Given the description of an element on the screen output the (x, y) to click on. 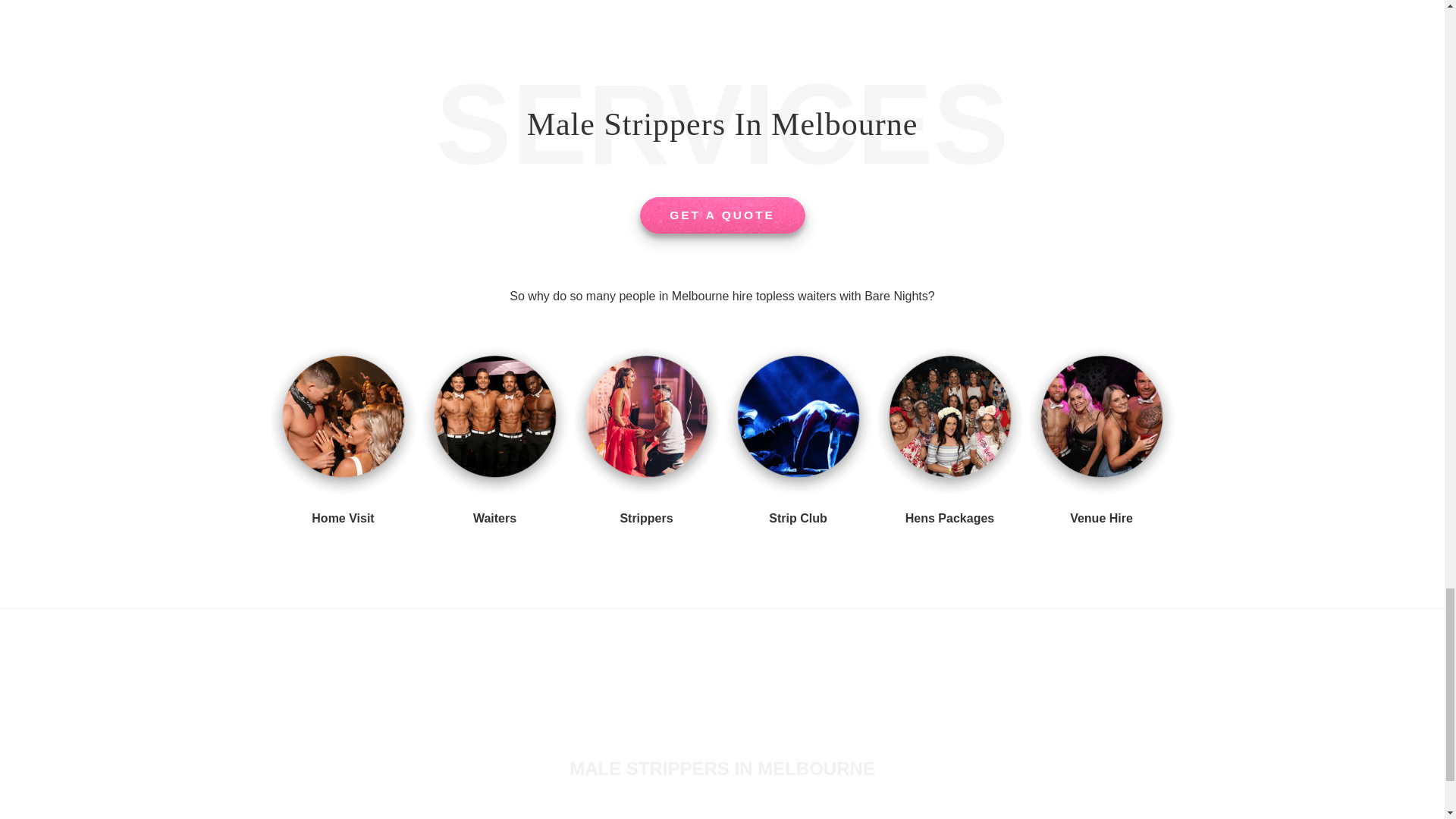
Home Visit (342, 517)
GET A QUOTE (722, 214)
Venue Hire (1101, 517)
Hens Packages (949, 517)
